Given the description of an element on the screen output the (x, y) to click on. 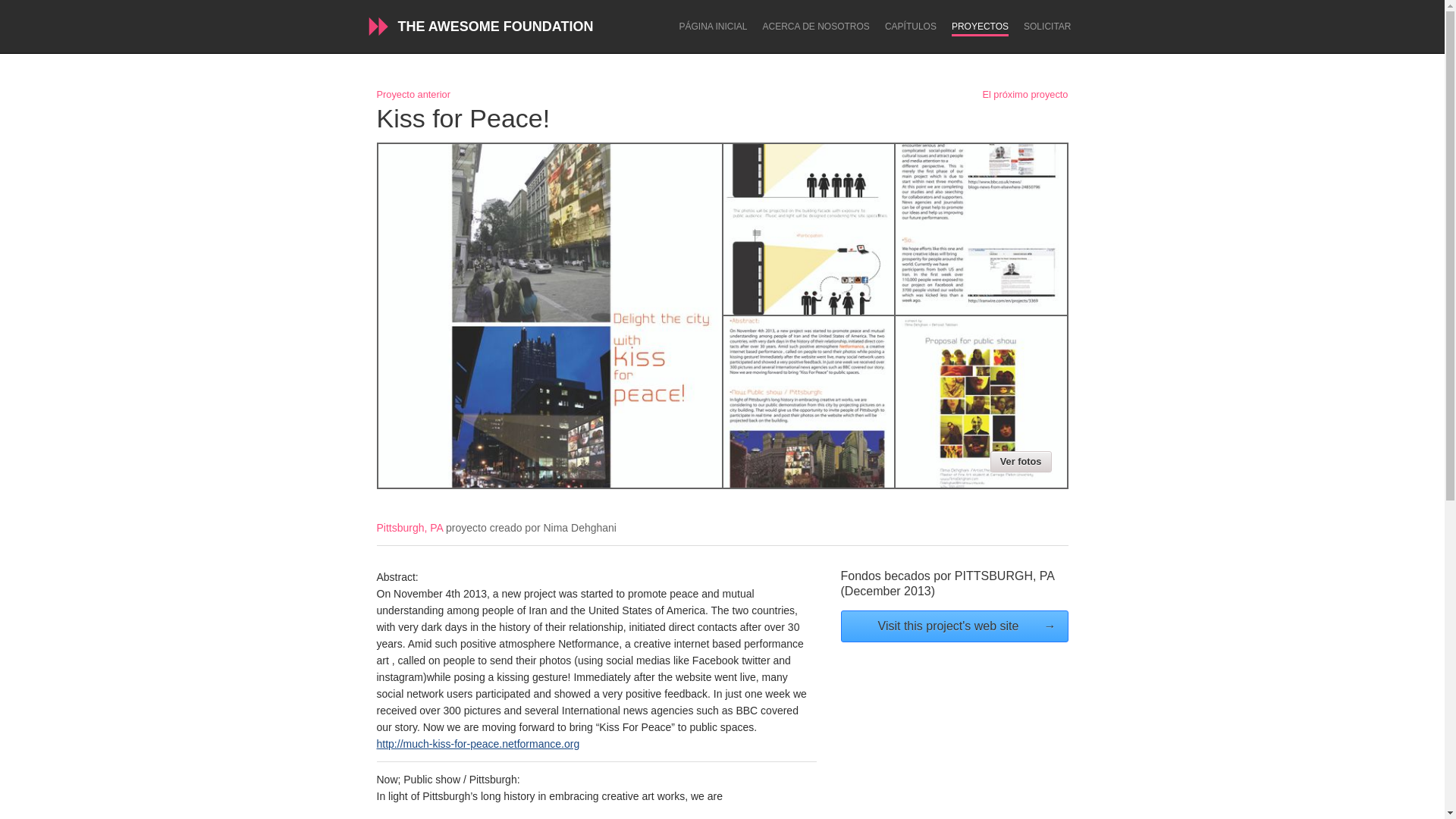
SOLICITAR (1046, 27)
PROYECTOS (980, 28)
ACERCA DE NOSOTROS (815, 27)
